Given the description of an element on the screen output the (x, y) to click on. 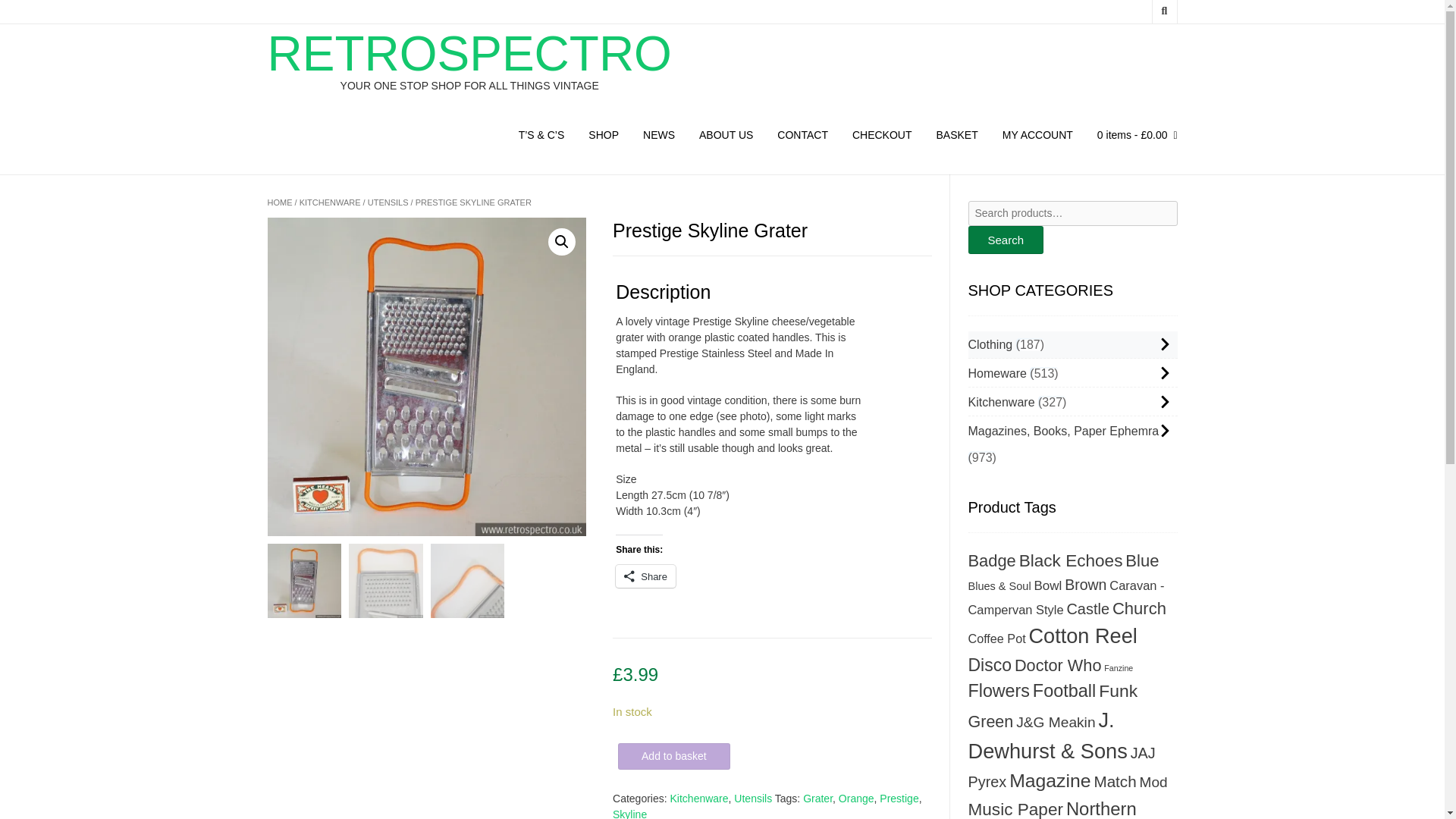
KITCHENWARE (330, 202)
Skyline (629, 813)
CHECKOUT (882, 135)
MY ACCOUNT (1037, 135)
Utensils (752, 798)
Add to basket (673, 755)
Orange (856, 798)
CONTACT (802, 135)
Kitchenware (699, 798)
Share (645, 576)
